Given the description of an element on the screen output the (x, y) to click on. 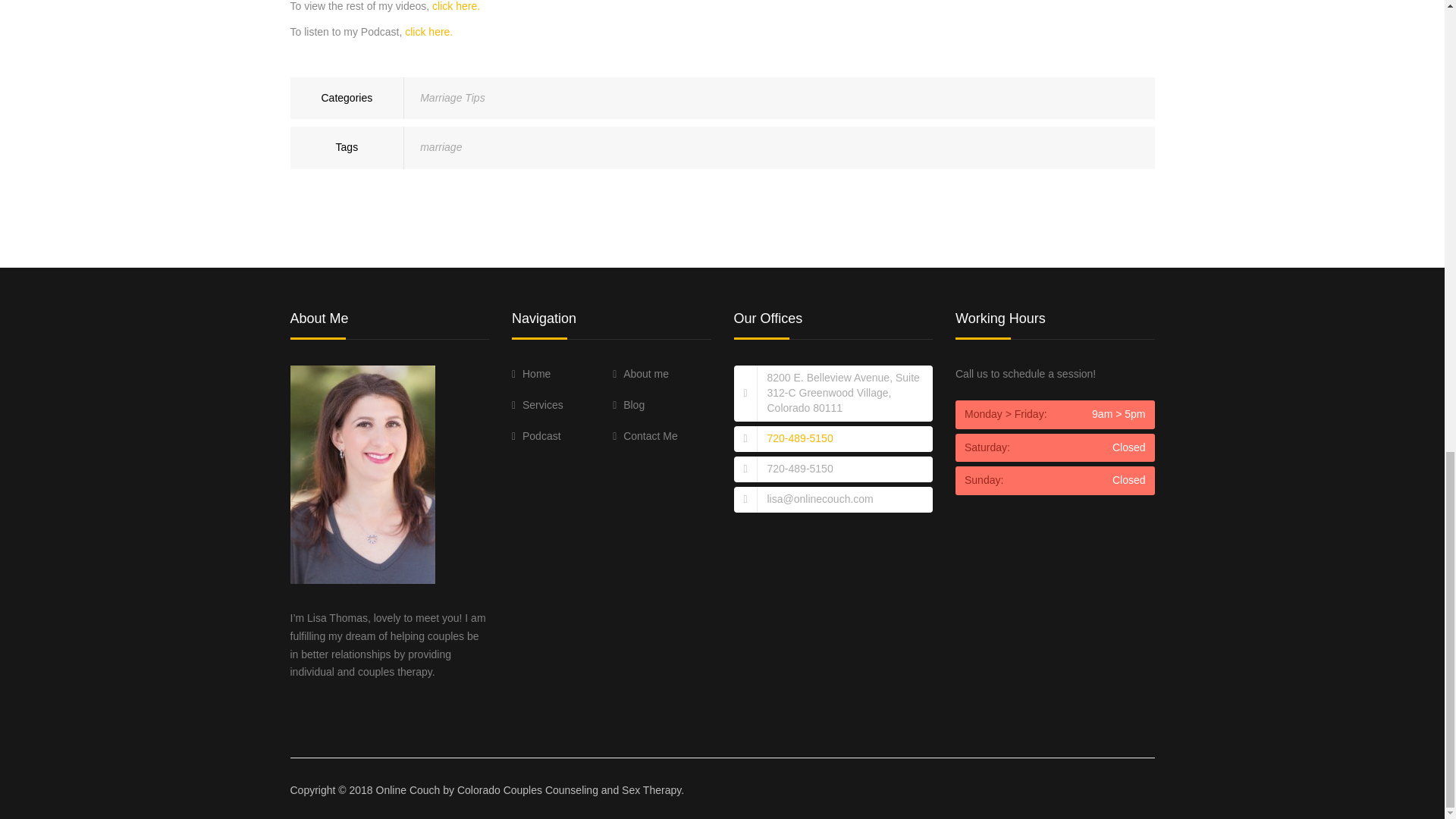
marriage (440, 146)
Podcast (536, 435)
About me (640, 373)
Services (537, 404)
click here. (428, 31)
Marriage Tips (452, 97)
Home (531, 373)
Contact Me (645, 435)
Blog (628, 404)
click here. (456, 6)
